Given the description of an element on the screen output the (x, y) to click on. 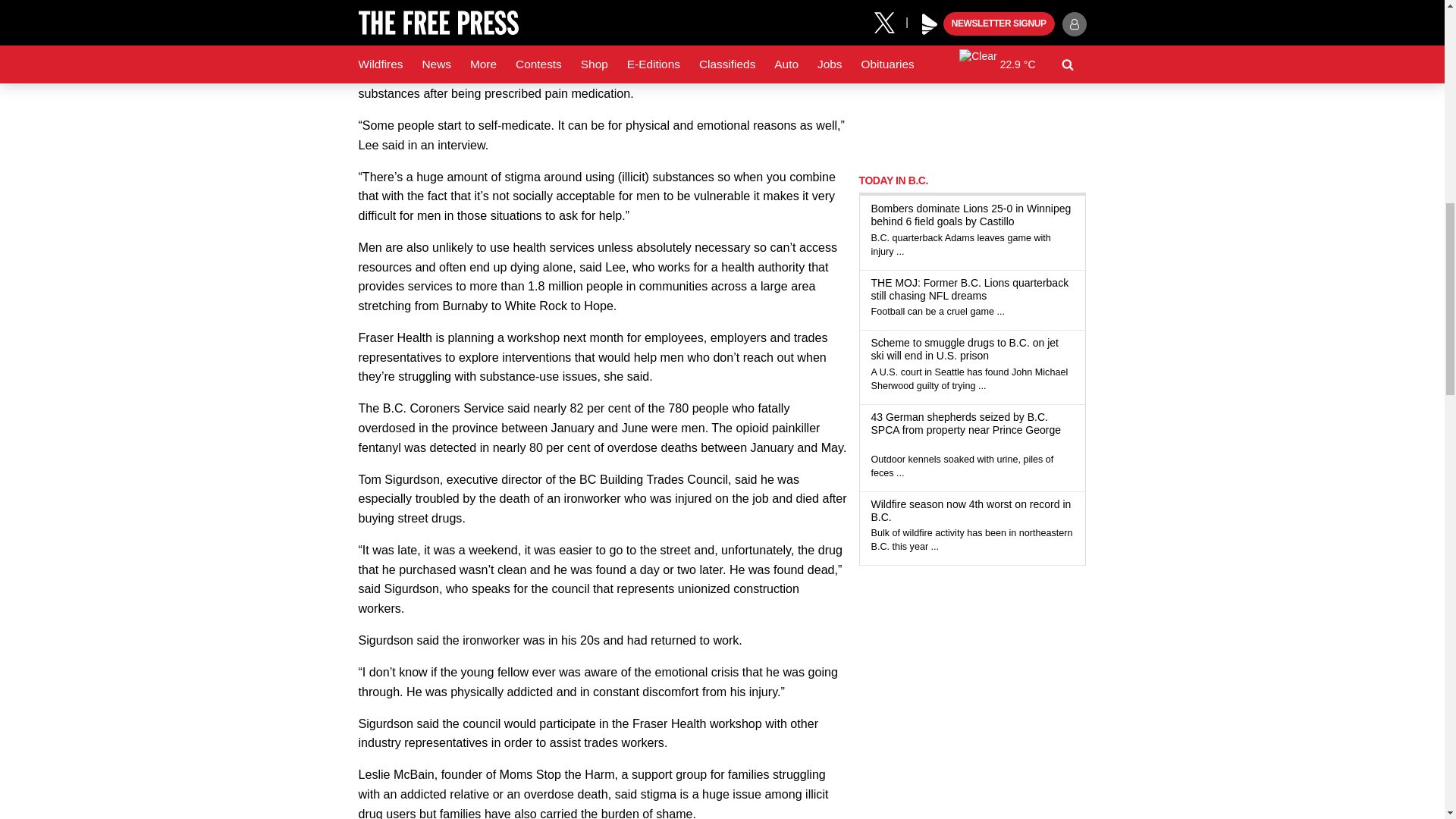
Has a gallery (876, 443)
